Given the description of an element on the screen output the (x, y) to click on. 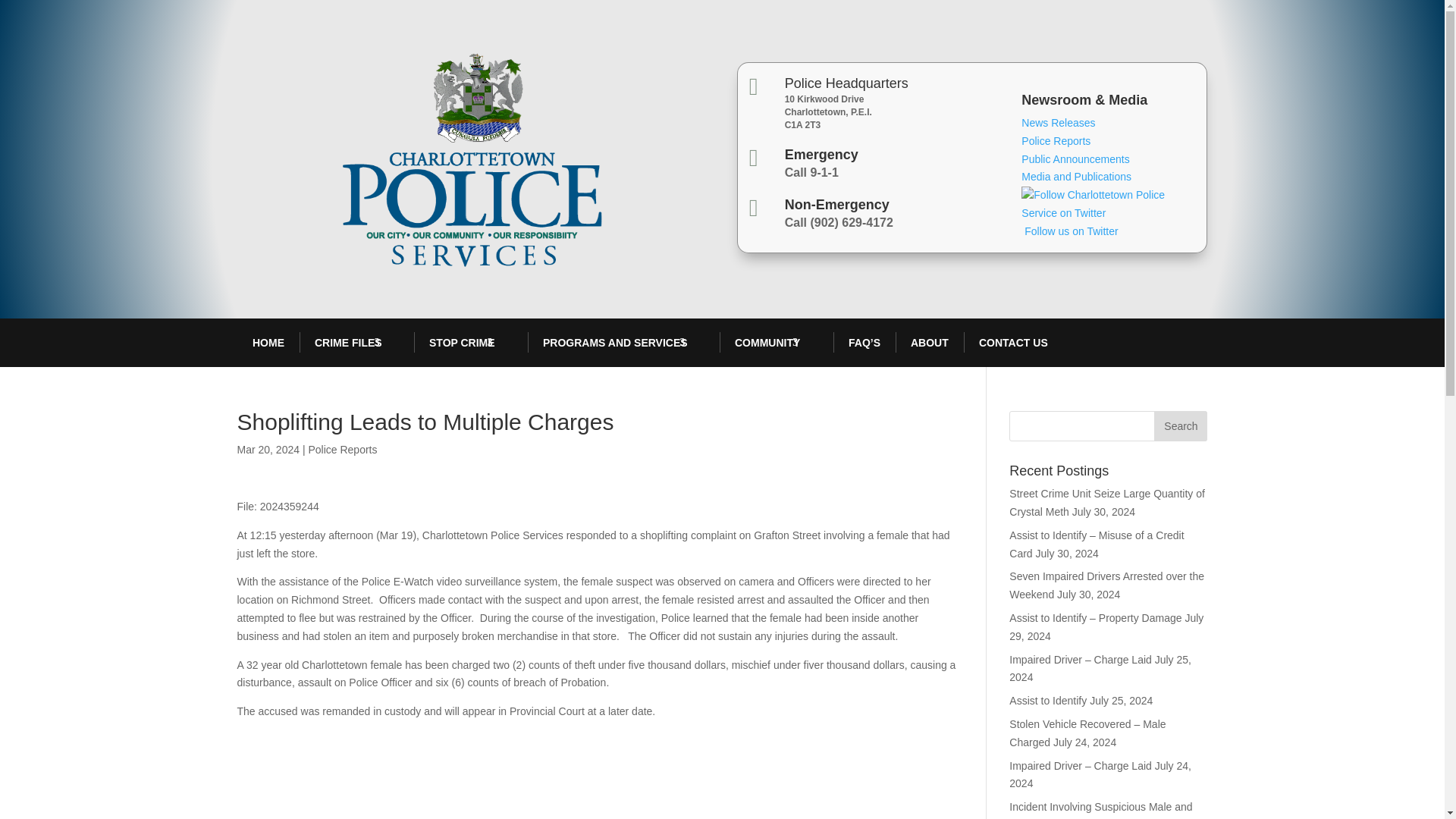
Search (1180, 426)
Follow CPS on Twitter (1108, 222)
